Given the description of an element on the screen output the (x, y) to click on. 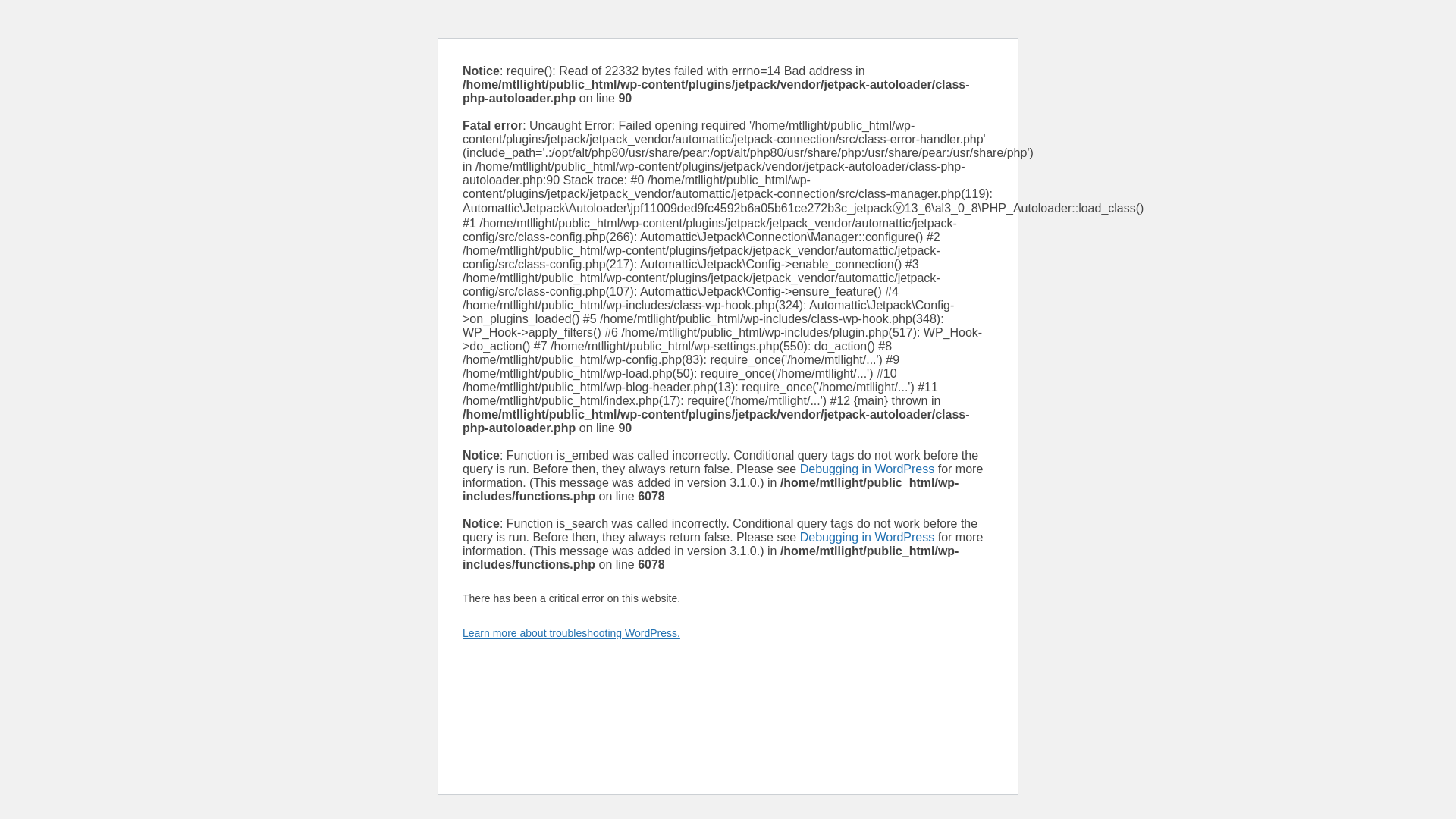
Debugging in WordPress (866, 468)
Debugging in WordPress (866, 536)
Learn more about troubleshooting WordPress. (571, 633)
